Given the description of an element on the screen output the (x, y) to click on. 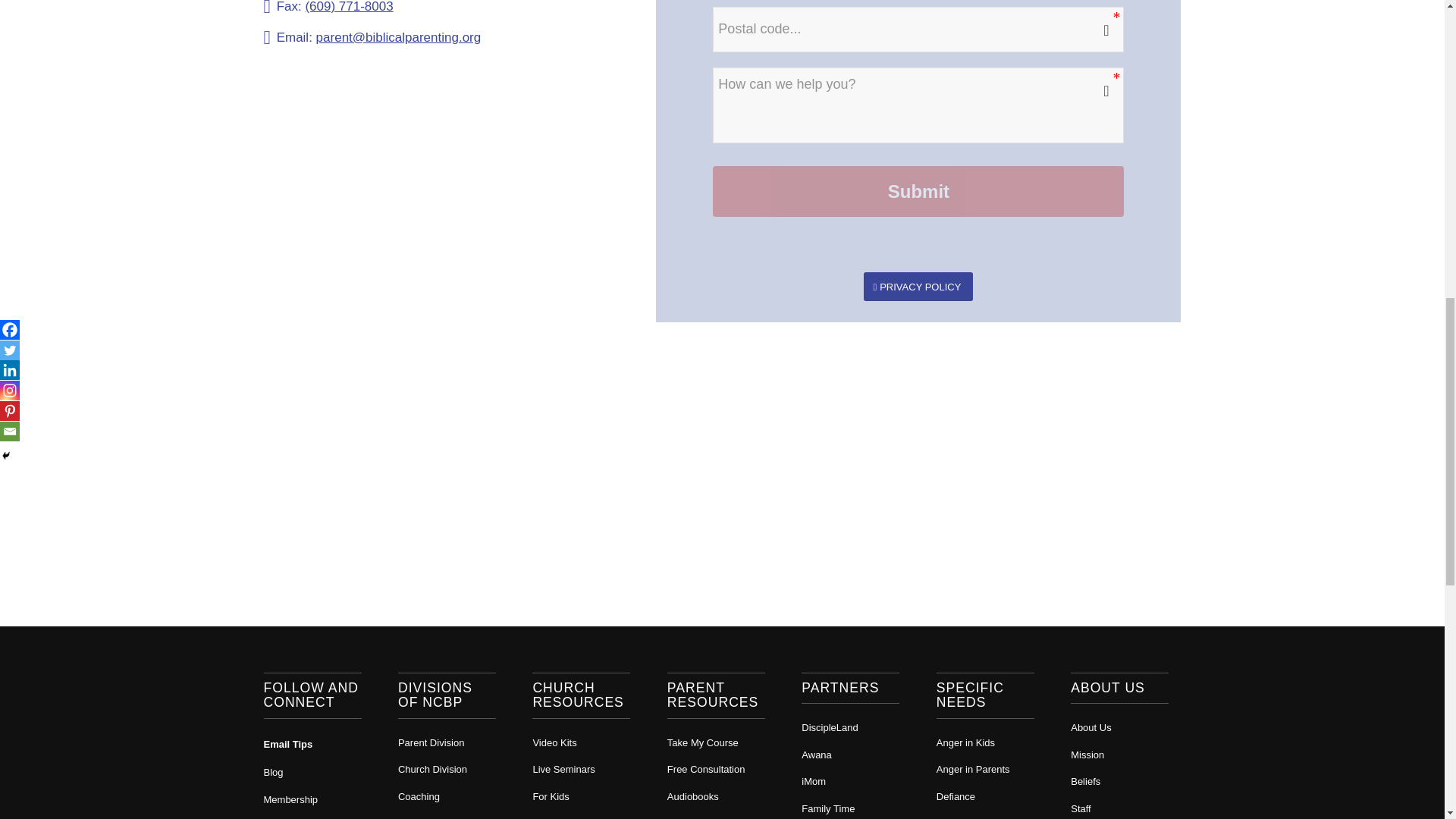
PRIVACY POLICY (917, 286)
Submit (918, 191)
